Given the description of an element on the screen output the (x, y) to click on. 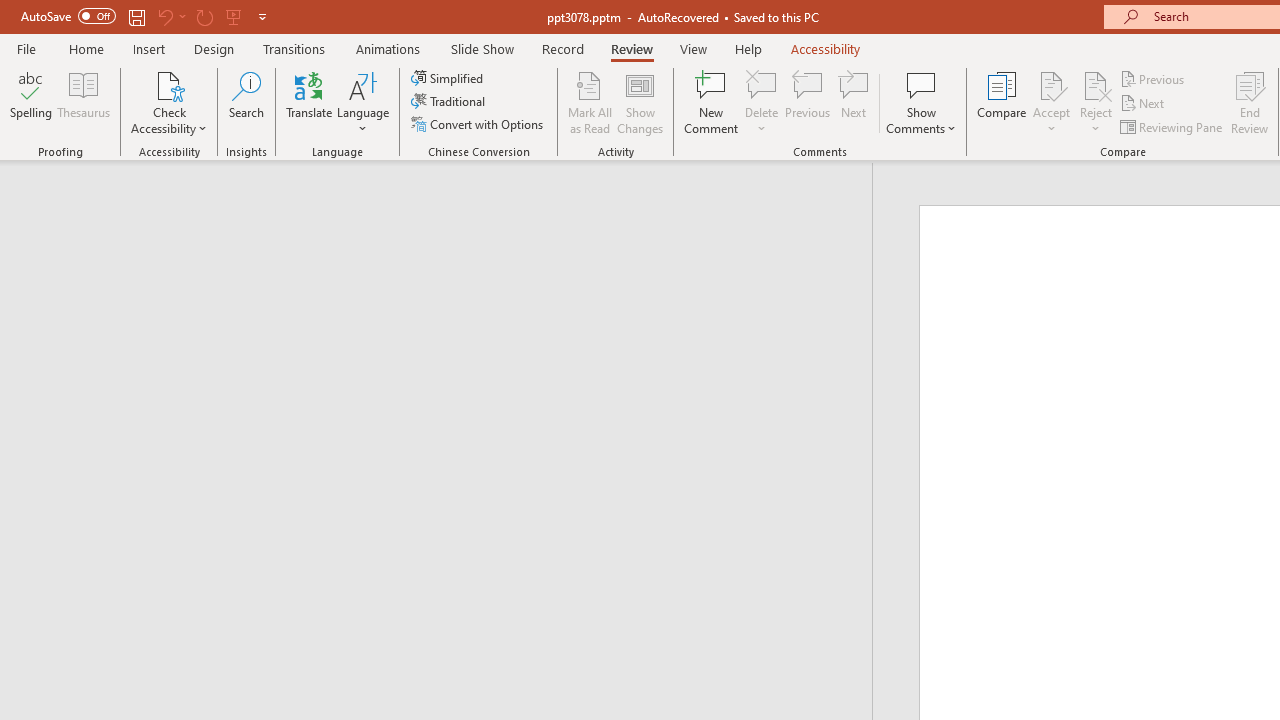
Language (363, 102)
Reviewing Pane (1172, 126)
Previous (1153, 78)
Thesaurus... (83, 102)
End Review (1249, 102)
Convert with Options... (479, 124)
Accept Change (1051, 84)
Reject Change (1096, 84)
